Given the description of an element on the screen output the (x, y) to click on. 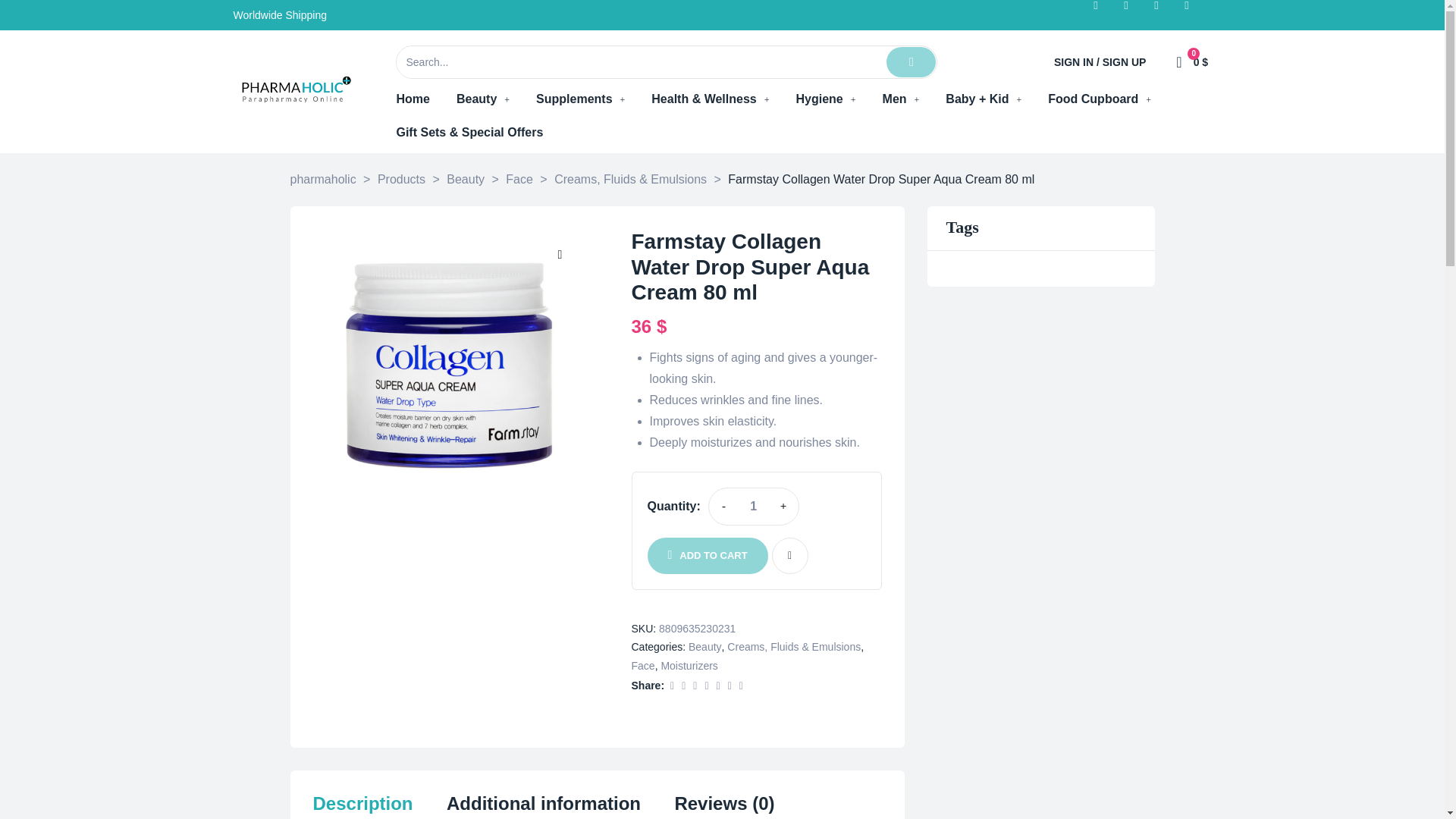
Qty (753, 505)
Farmstay Collagen Aqua Cream (449, 365)
Search (640, 61)
Go to the Beauty Category archives. (465, 179)
Go to the Face Category archives. (518, 179)
1 (753, 505)
Go to Products. (401, 179)
Go to pharmaholic. (322, 179)
